Given the description of an element on the screen output the (x, y) to click on. 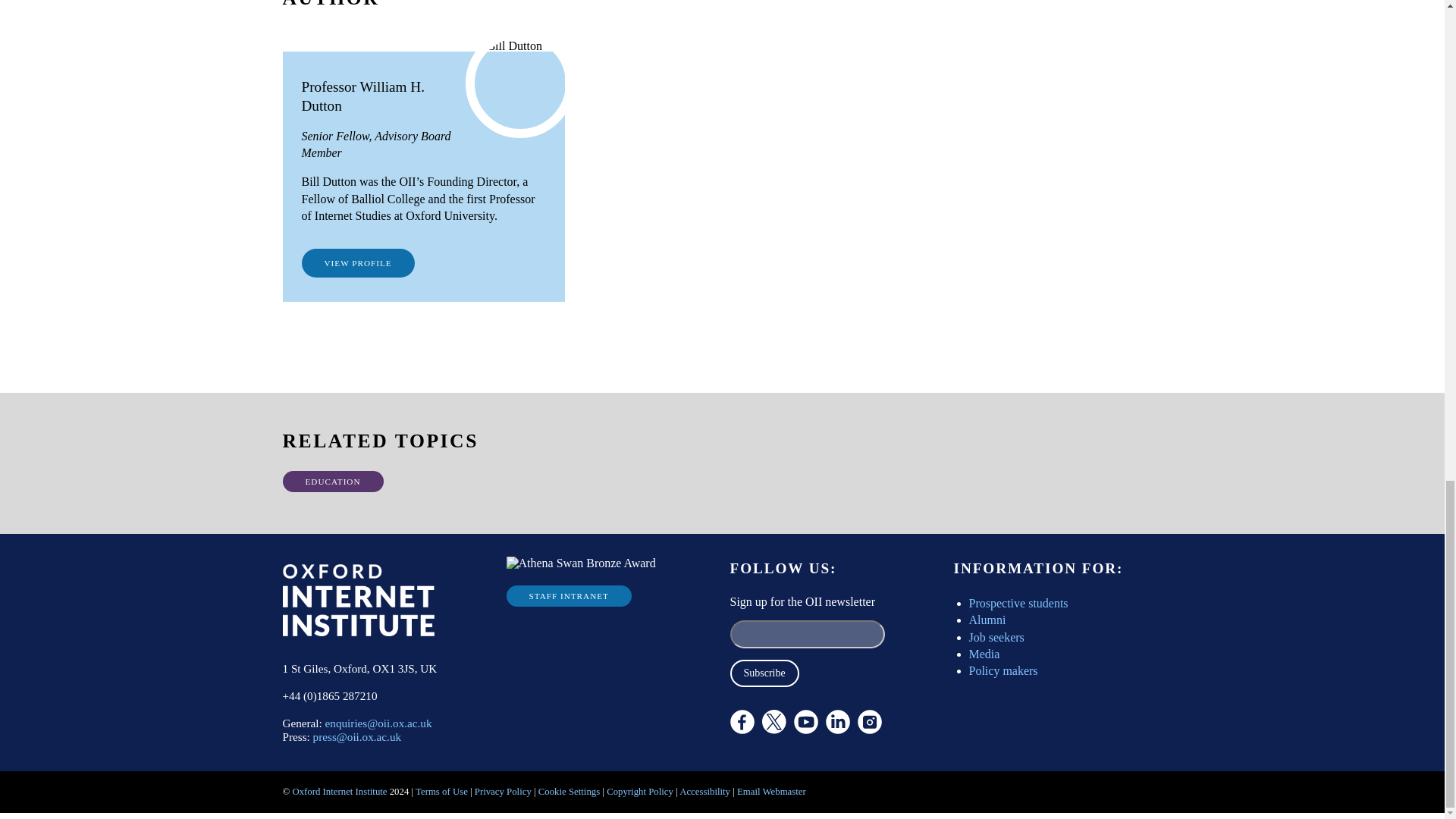
Facebook link (741, 721)
Twitter link (814, 762)
Instagram link (868, 721)
LinkedIn link (836, 721)
Subscribe (763, 673)
YouTube link (804, 721)
